Given the description of an element on the screen output the (x, y) to click on. 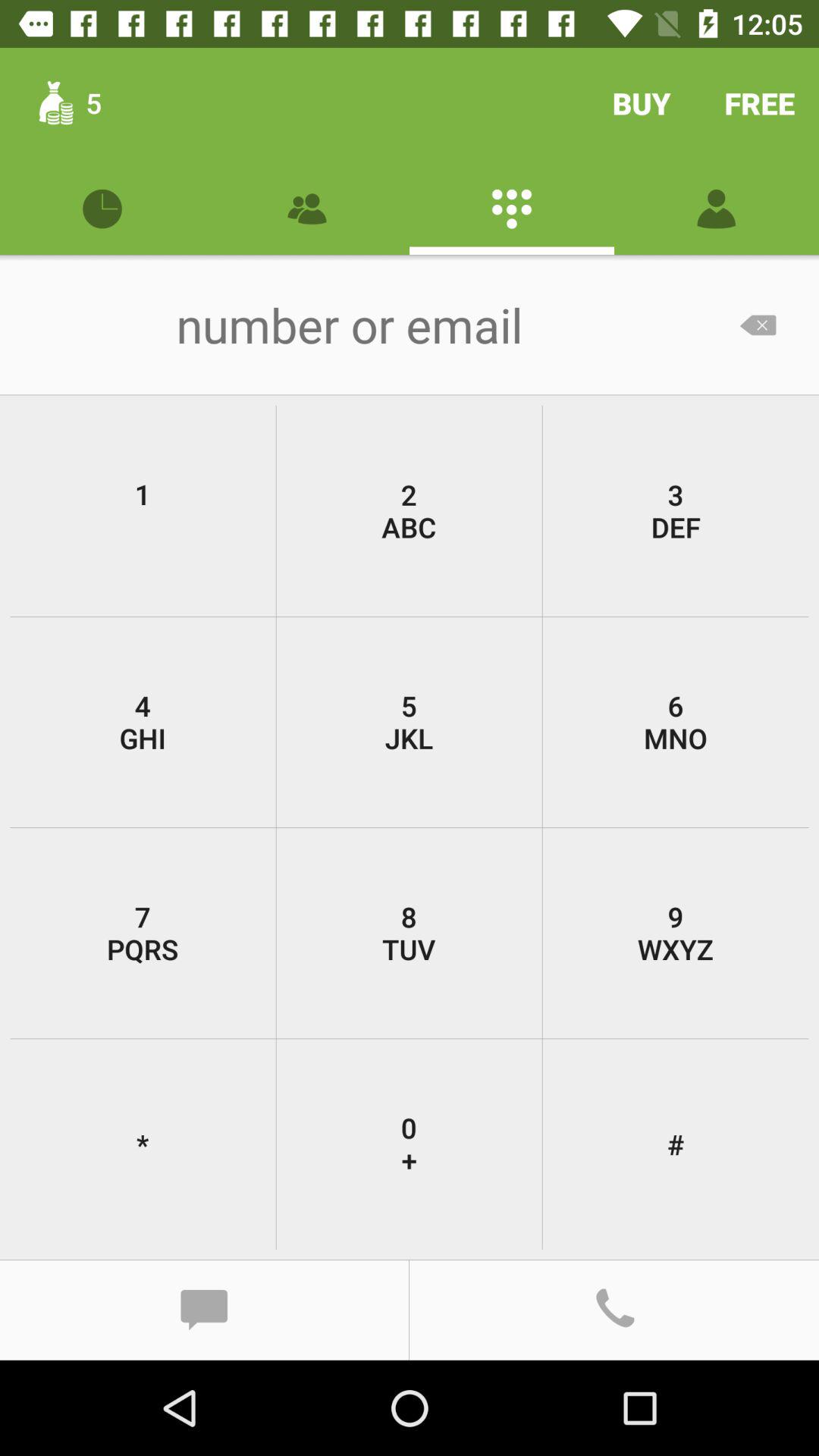
launch the icon to the right of 2
abc item (675, 722)
